Given the description of an element on the screen output the (x, y) to click on. 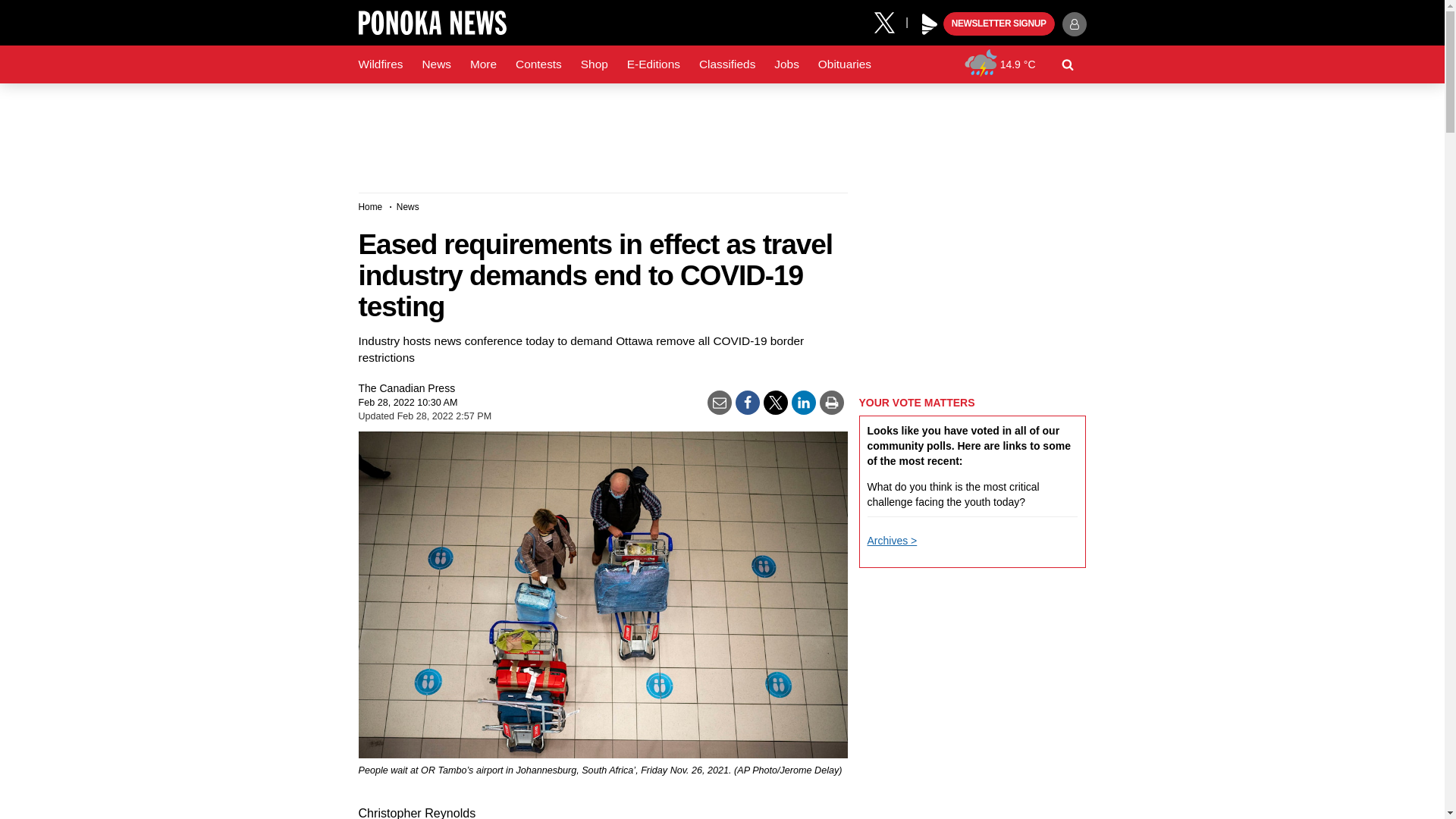
Black Press Media (929, 24)
X (889, 21)
Play (929, 24)
News (435, 64)
NEWSLETTER SIGNUP (998, 24)
